Given the description of an element on the screen output the (x, y) to click on. 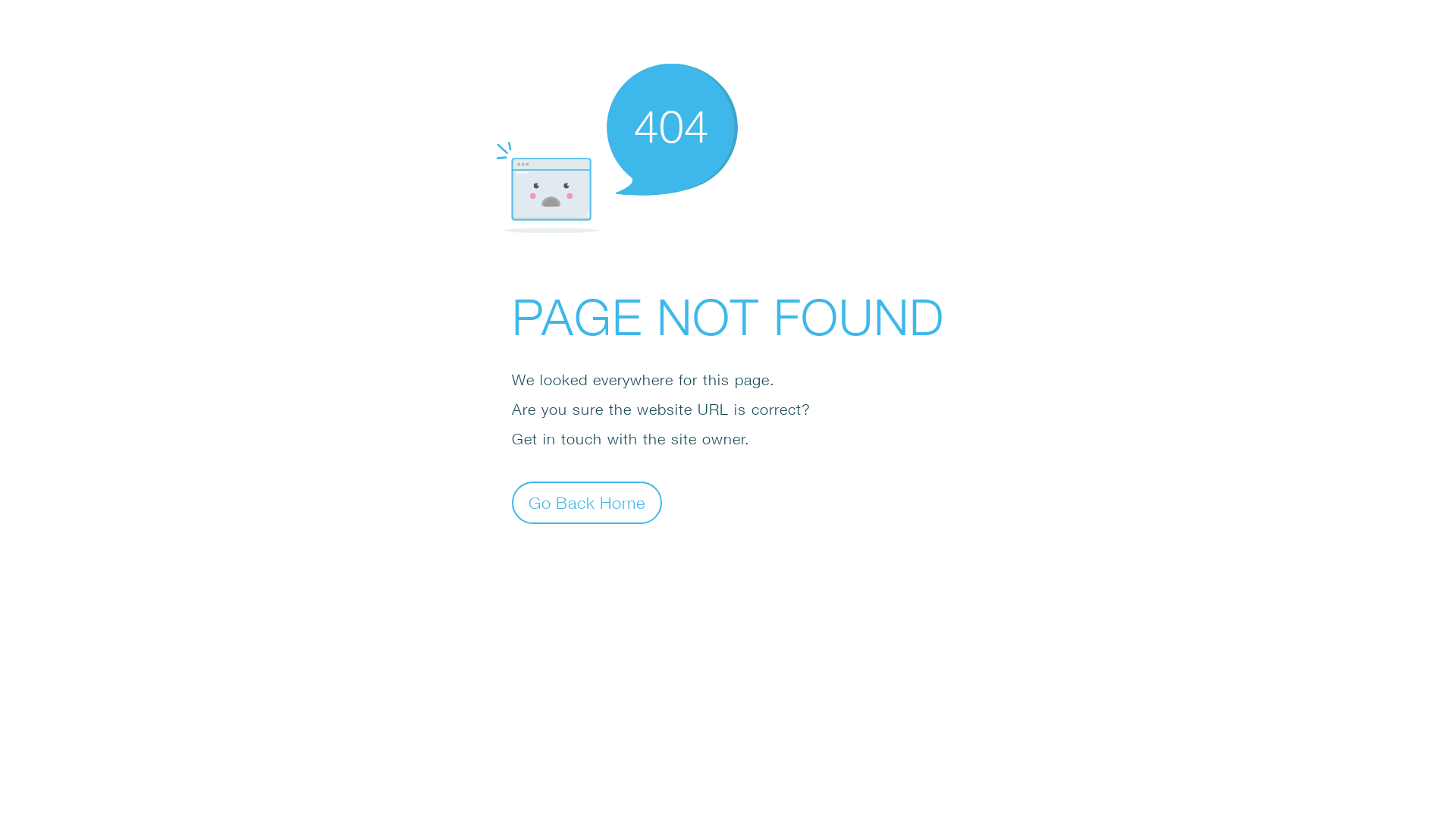
Go Back Home Element type: text (586, 502)
